Given the description of an element on the screen output the (x, y) to click on. 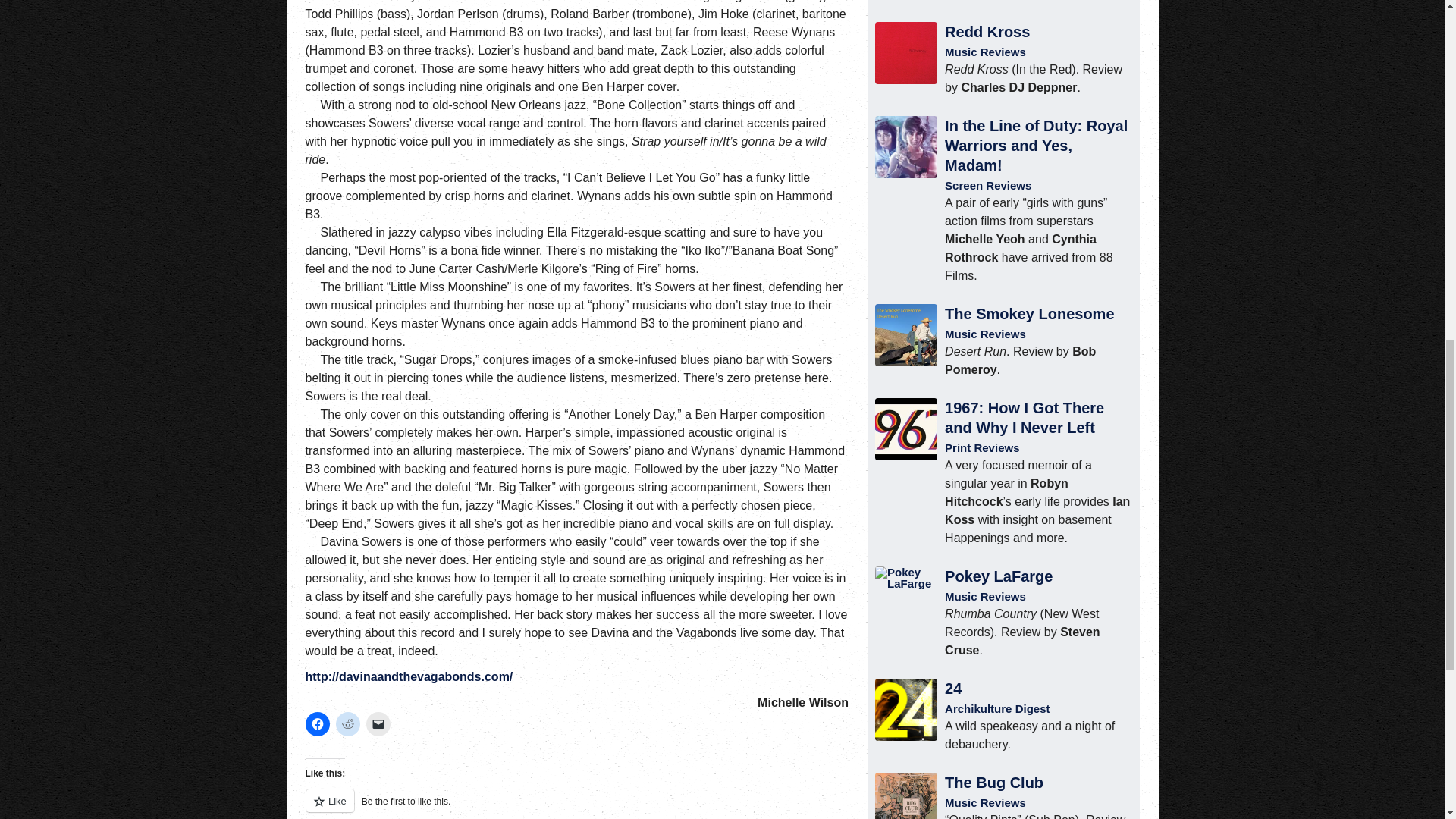
Click to email a link to a friend (377, 723)
Click to share on Reddit (346, 723)
Like or Reblog (575, 803)
Click to share on Facebook (316, 723)
